Given the description of an element on the screen output the (x, y) to click on. 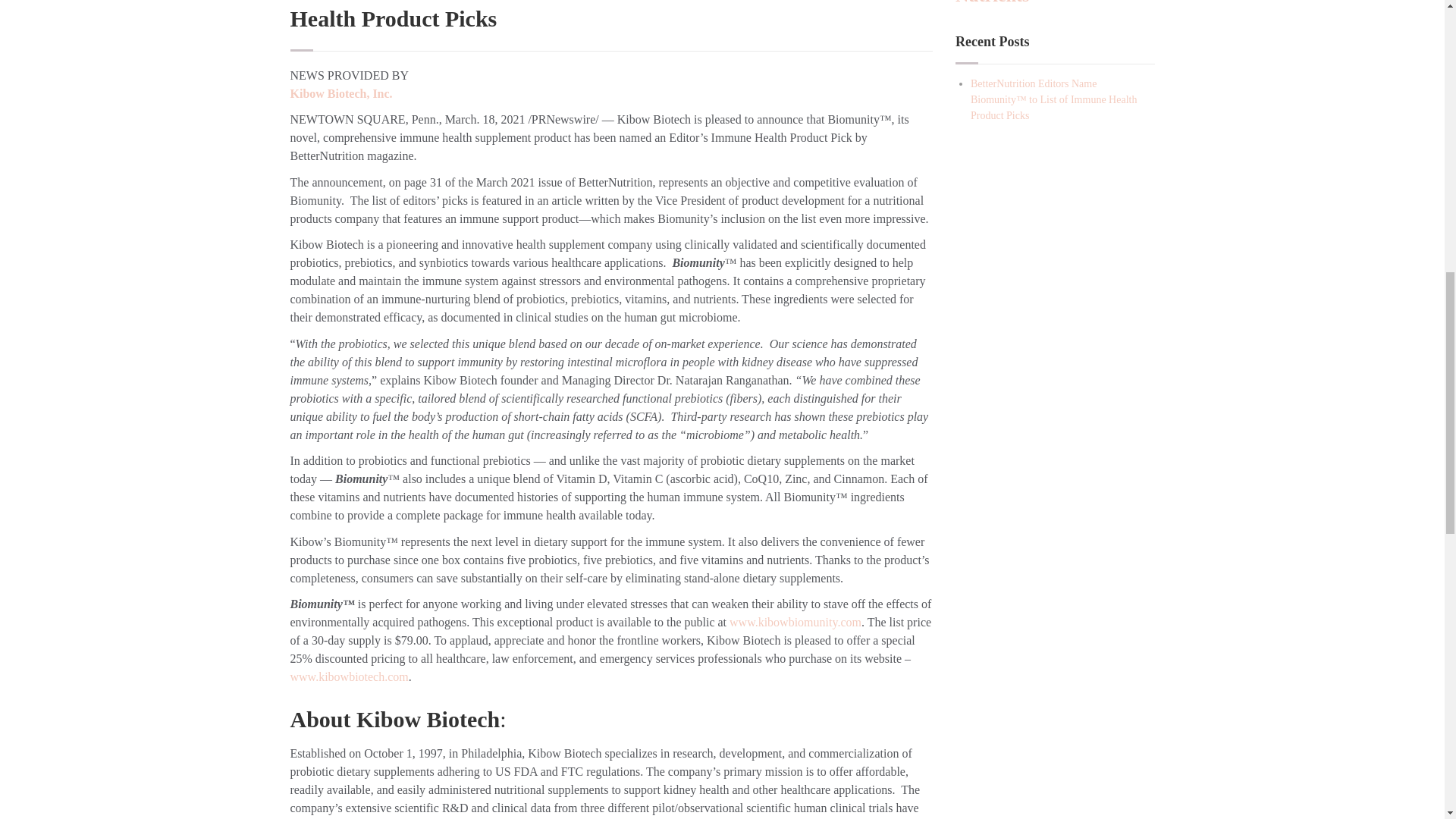
www.kibowbiotech.com (348, 676)
Kibow Biotech, Inc.  (341, 92)
www.kibowbiomunity.com (795, 621)
